Given the description of an element on the screen output the (x, y) to click on. 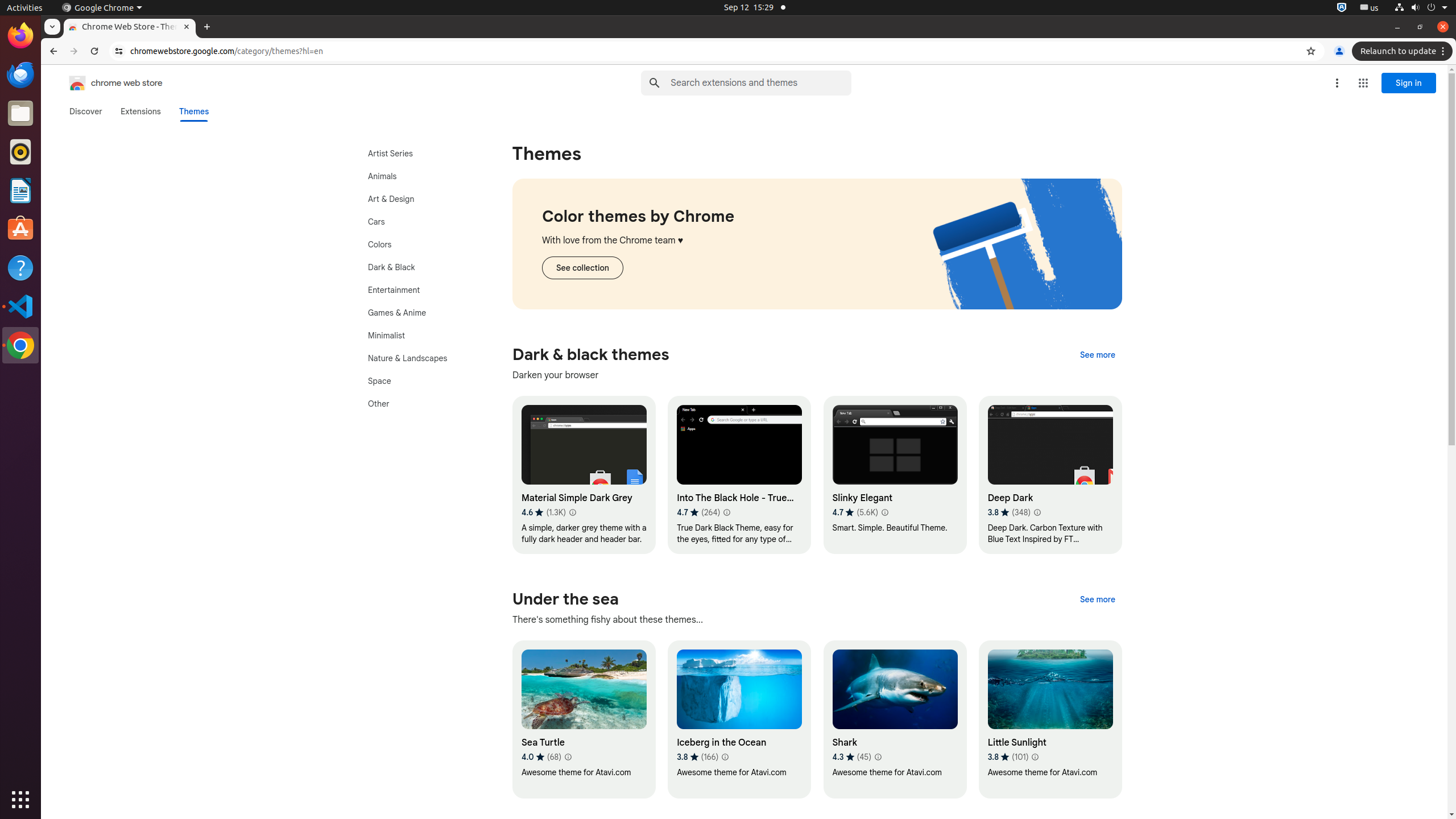
Reload Element type: push-button (94, 50)
Discover Element type: page-tab (85, 111)
Forward Element type: push-button (73, 50)
You Element type: push-button (1339, 50)
New Tab Element type: push-button (206, 26)
